Given the description of an element on the screen output the (x, y) to click on. 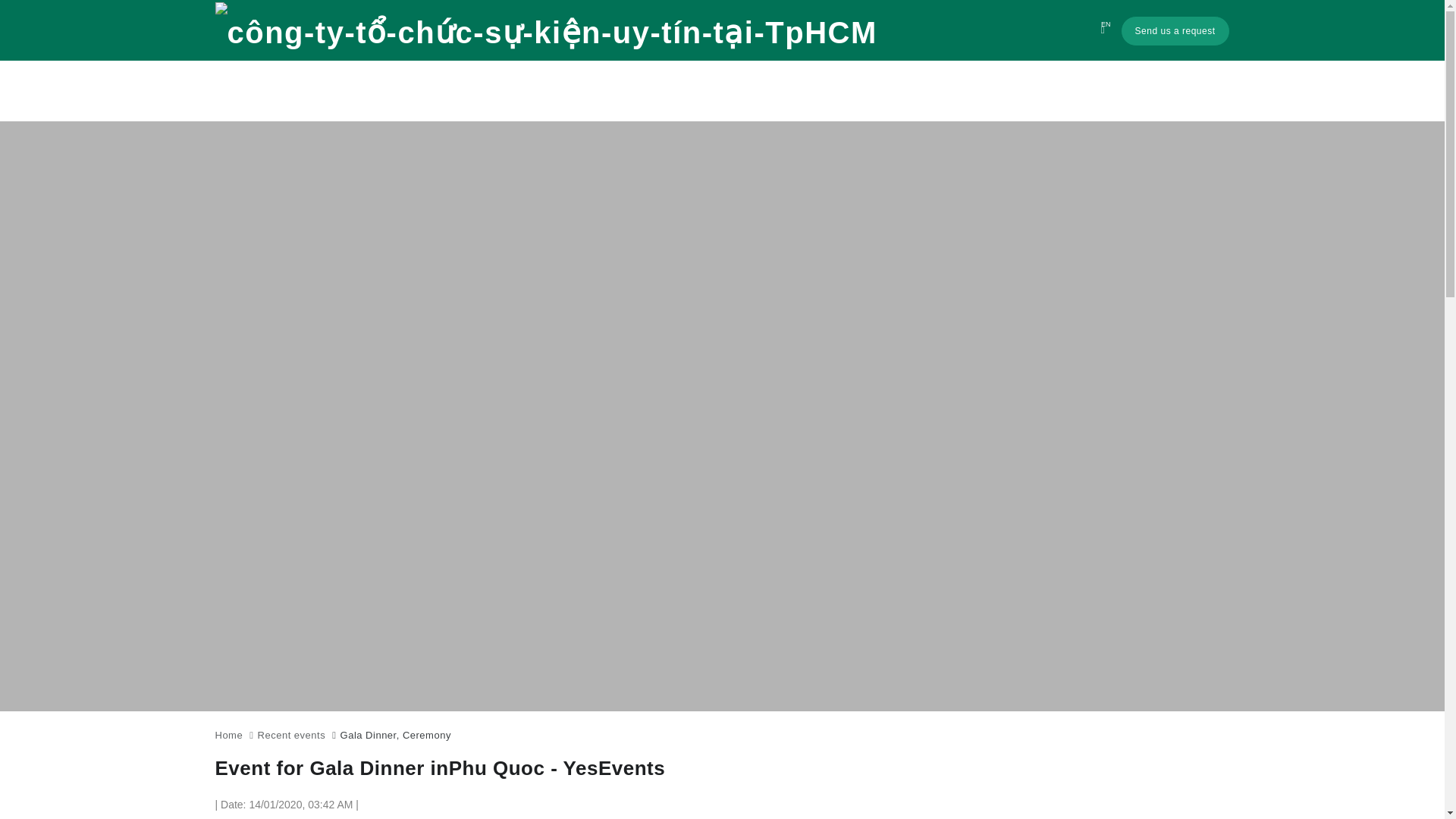
CONTACT US (1189, 91)
Gala Dinner, Ceremony (395, 735)
SERVICES (952, 91)
Send us a request (1175, 30)
Home (229, 735)
NEWS (1119, 91)
RECENT EVENTS (1040, 91)
HOME (816, 91)
ABOUT US (879, 91)
Recent events (291, 735)
